Given the description of an element on the screen output the (x, y) to click on. 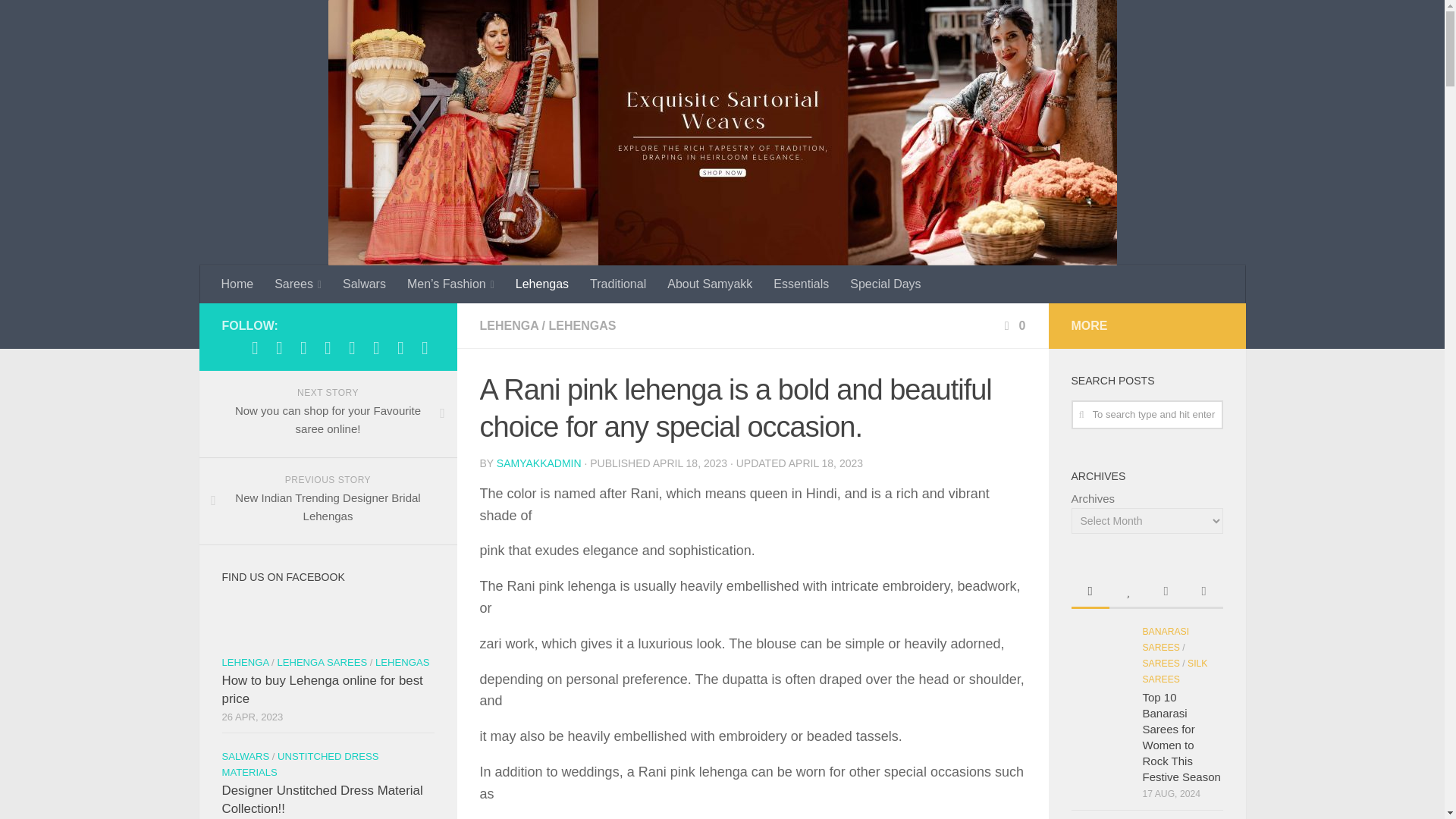
Home (237, 284)
LEHENGAS (581, 325)
SAMYAKKADMIN (538, 463)
0 (1013, 325)
About Samyakk (709, 284)
LEHENGA (508, 325)
Posts by Samyakkadmin (538, 463)
To search type and hit enter (1146, 414)
To search type and hit enter (1146, 414)
Lehengas (542, 284)
